Given the description of an element on the screen output the (x, y) to click on. 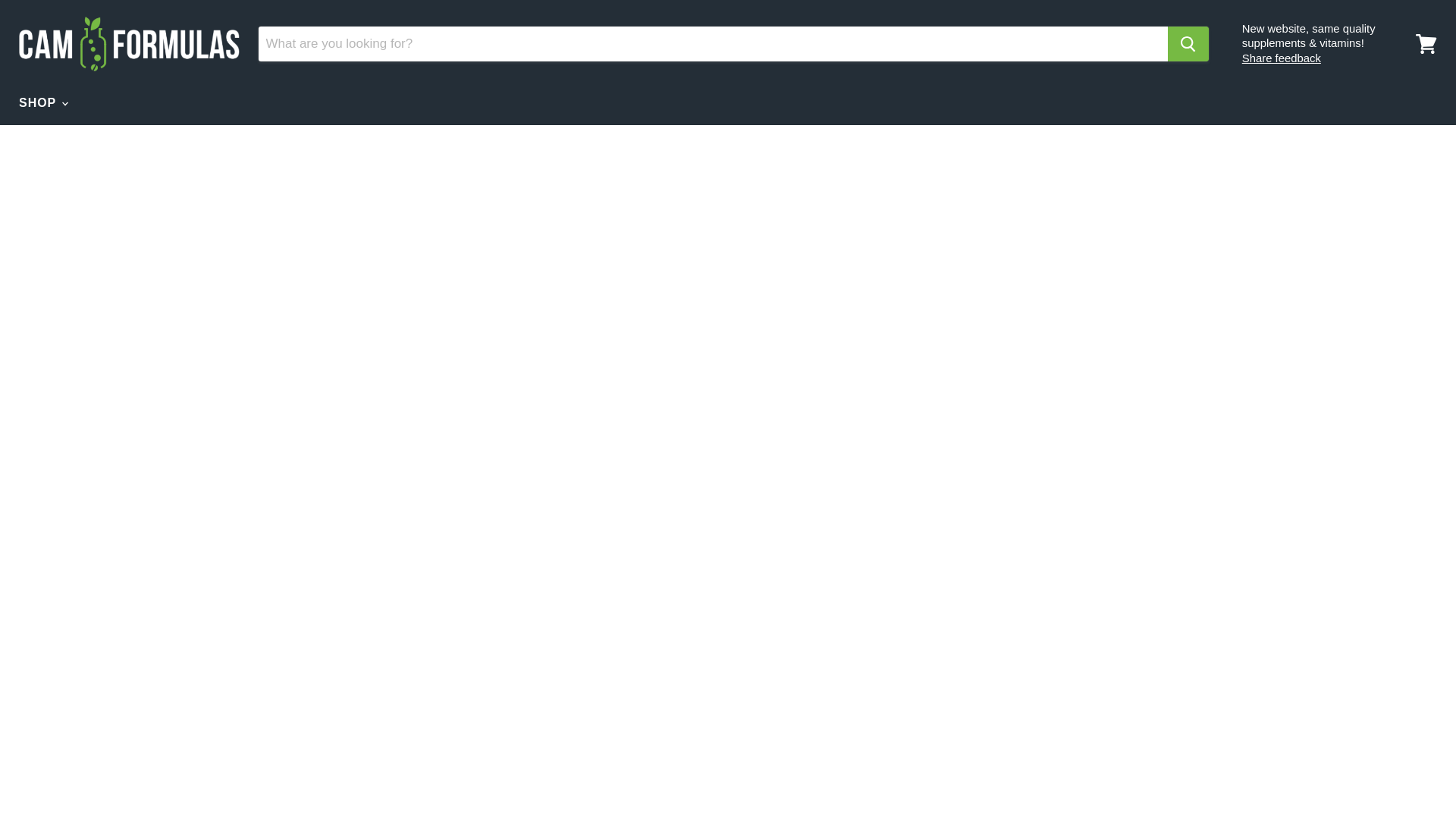
Share feedback (1280, 58)
SHOP (42, 102)
Website Feedback (1280, 58)
View cart (1425, 43)
